Given the description of an element on the screen output the (x, y) to click on. 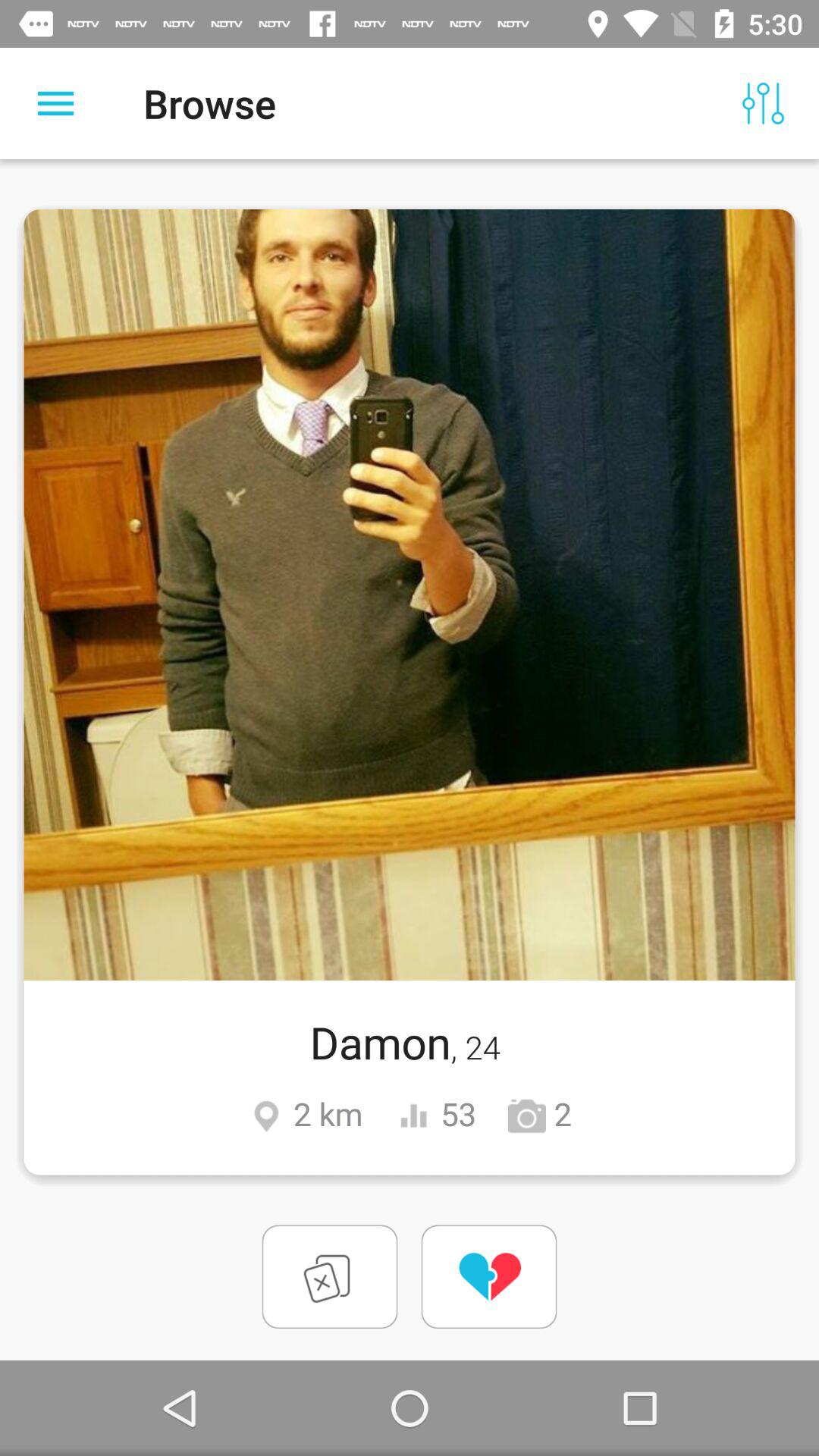
click icon to the right of browse (763, 103)
